Given the description of an element on the screen output the (x, y) to click on. 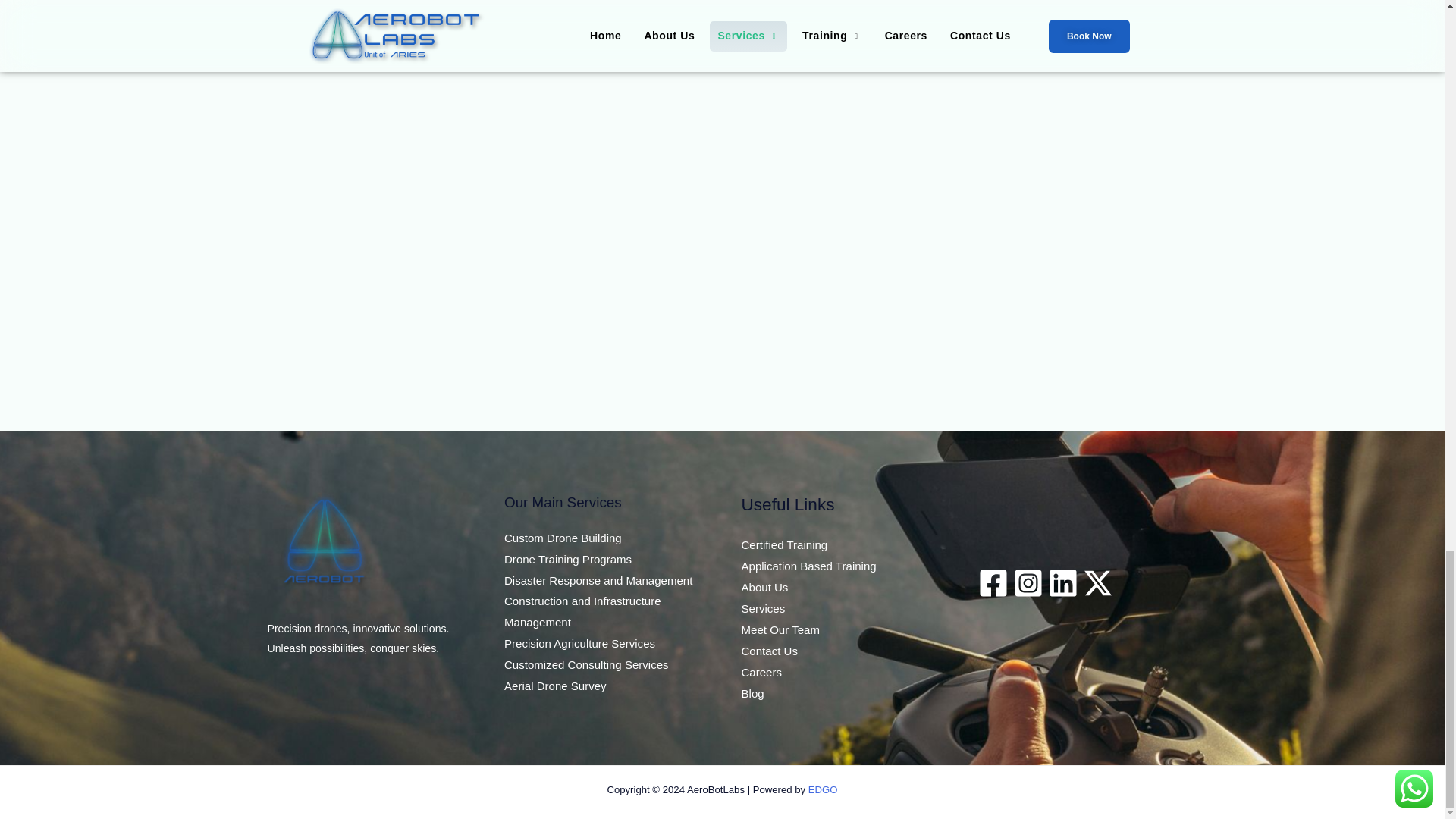
Aerial Drone Survey (555, 685)
Custom Drone Building (562, 537)
Customized Consulting Services (585, 664)
Meet Our Team (780, 629)
Services (763, 608)
Drone Training Programs (567, 558)
Disaster Response and Management (598, 580)
Certified Training (784, 544)
Construction and Infrastructure Management (582, 611)
Application Based Training (808, 565)
